Given the description of an element on the screen output the (x, y) to click on. 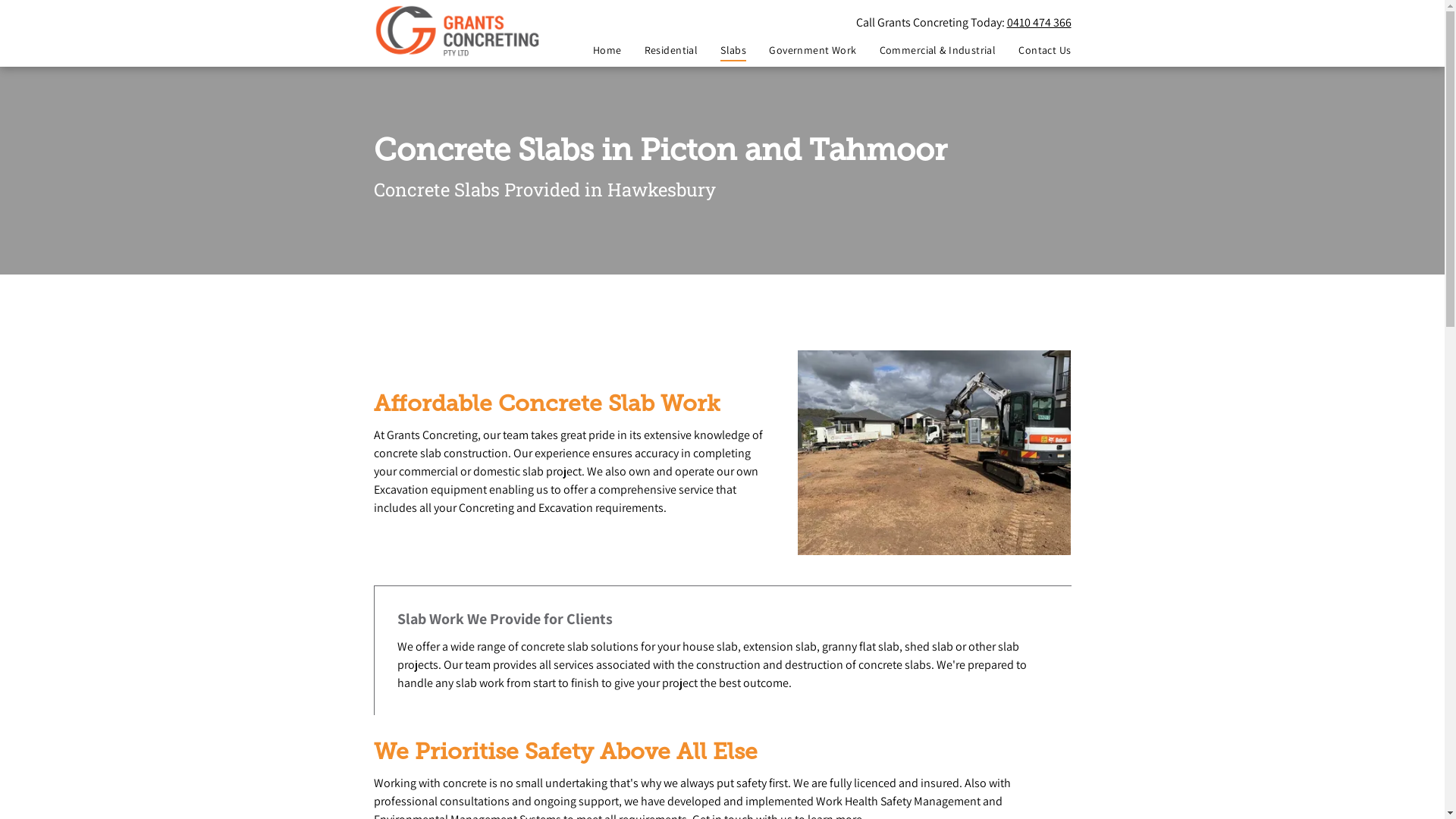
0410 474 366 Element type: text (1039, 22)
Commercial & Industrial Element type: text (926, 50)
Residential Element type: text (659, 50)
Contact Us Element type: text (1032, 50)
Government Work Element type: text (801, 50)
Slabs Element type: text (721, 50)
Home Element type: text (595, 50)
